Given the description of an element on the screen output the (x, y) to click on. 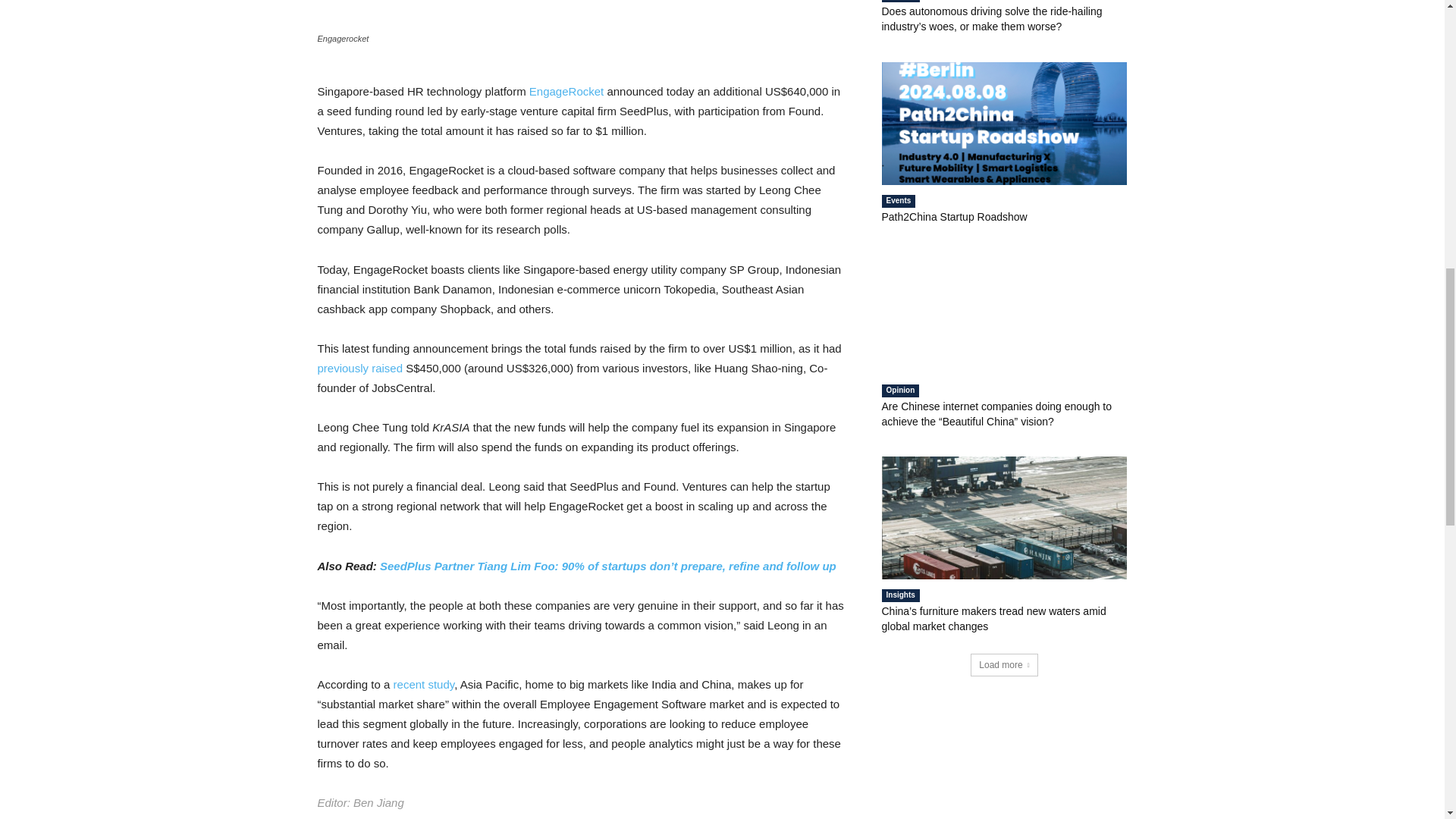
EngageRocket (566, 91)
engagerocket (580, 13)
recent study (423, 684)
previously raised (360, 367)
